Given the description of an element on the screen output the (x, y) to click on. 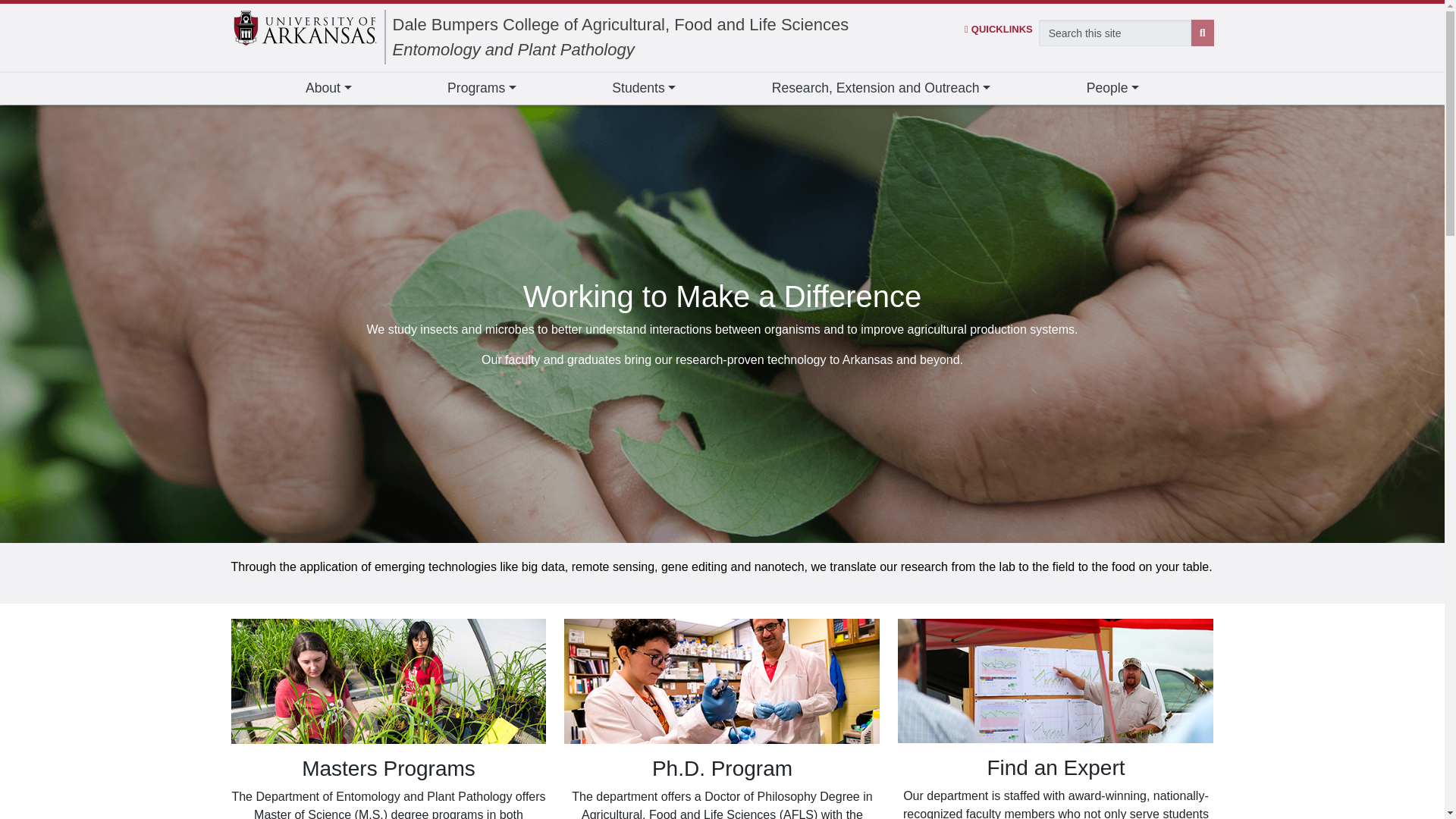
Entomology and Plant Pathology (513, 49)
Dale Bumpers College of Agricultural, Food and Life Sciences (620, 24)
